Given the description of an element on the screen output the (x, y) to click on. 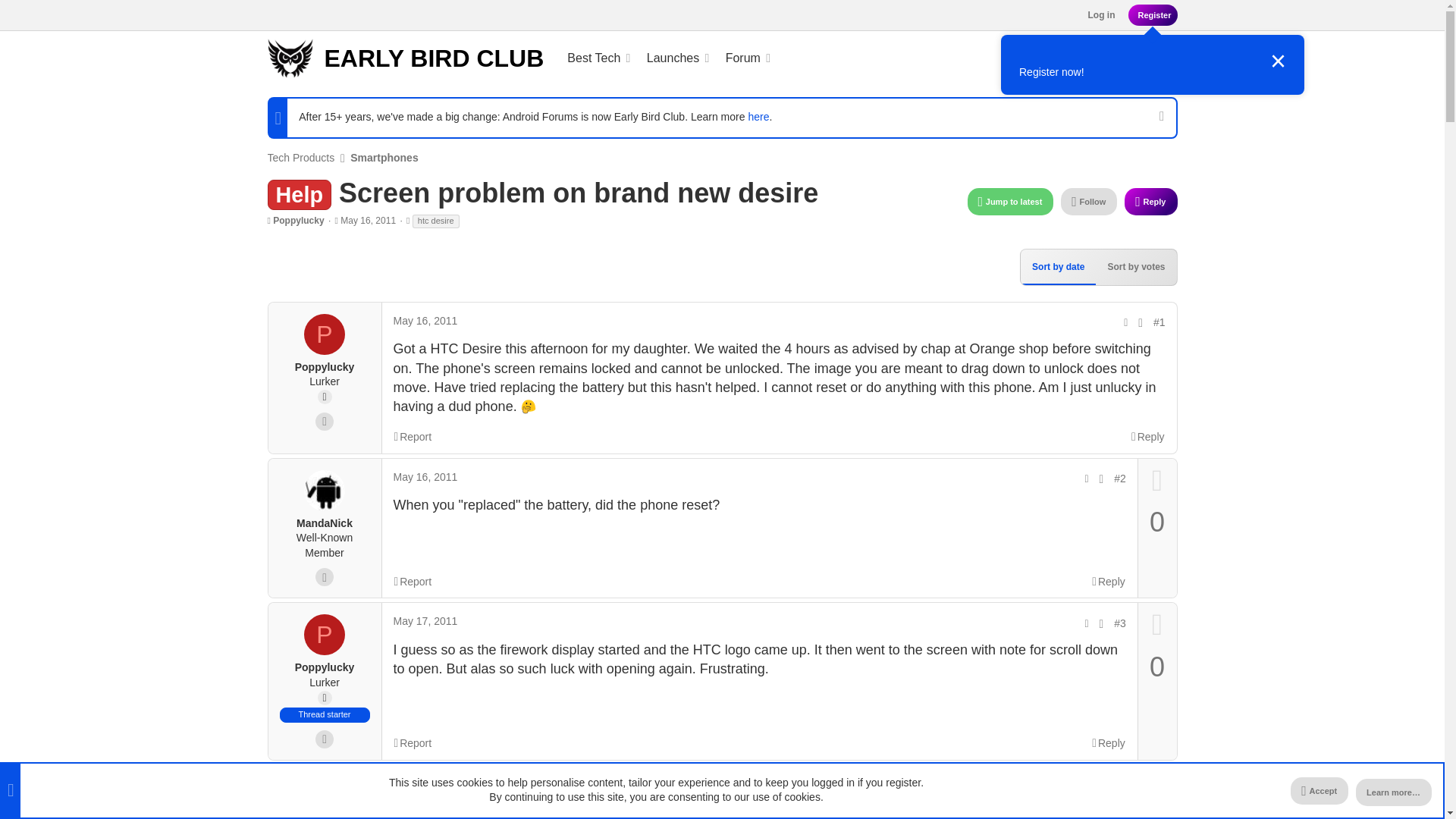
May 16, 2011 at 6:14 PM (368, 220)
May 17, 2011 at 1:02 AM (425, 621)
Log in (1099, 14)
May 16, 2011 at 10:29 PM (425, 476)
Reply, quoting this message (1107, 581)
Bookmark (1140, 322)
Launches (667, 58)
May 16, 2011 at 6:14 PM (425, 320)
Bookmark (664, 58)
EARLY BIRD CLUB (1101, 478)
Best Tech (404, 57)
Thinking    :thinking: (587, 58)
Bookmark (528, 406)
